Given the description of an element on the screen output the (x, y) to click on. 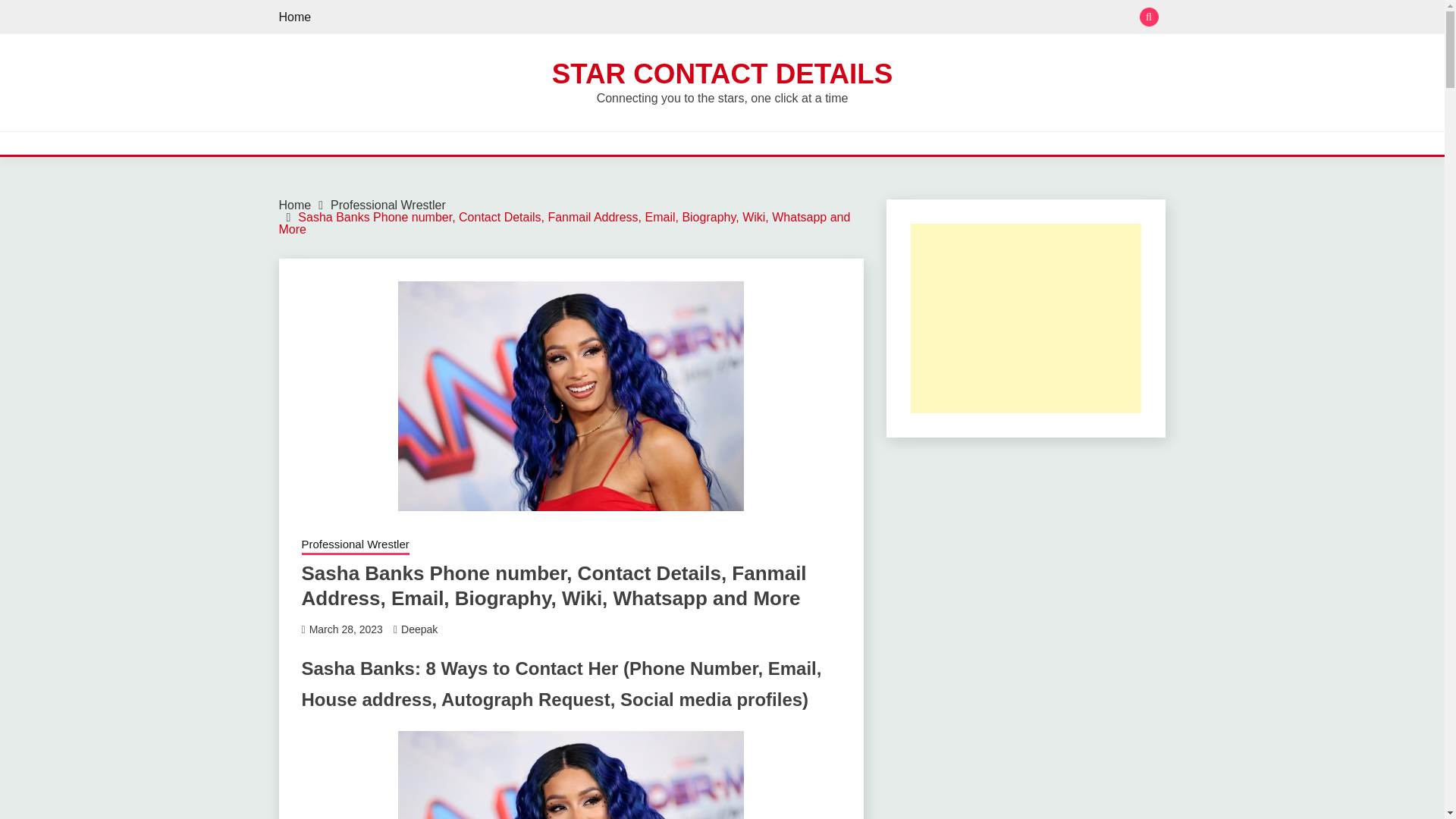
Advertisement (1026, 318)
Professional Wrestler (355, 546)
Home (295, 16)
Professional Wrestler (387, 205)
STAR CONTACT DETAILS (722, 73)
March 28, 2023 (345, 629)
Deepak (419, 629)
Search (832, 18)
Home (295, 205)
